Given the description of an element on the screen output the (x, y) to click on. 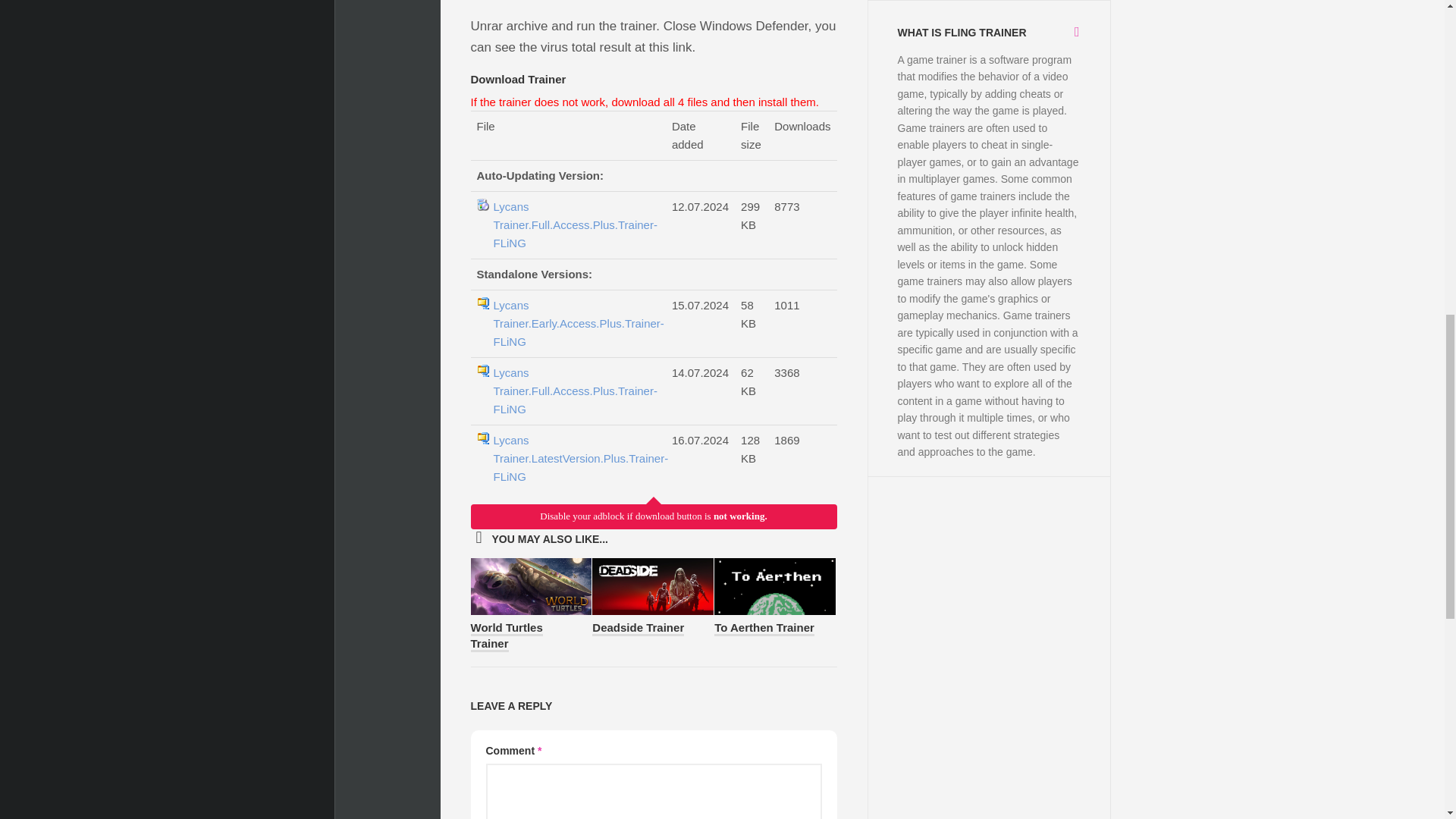
Lycans Trainer.LatestVersion.Plus.Trainer-FLiNG (575, 458)
Deadside Trainer (638, 628)
Lycans Trainer.Full.Access.Plus.Trainer-FLiNG (575, 225)
Lycans Trainer.Early.Access.Plus.Trainer-FLiNG (575, 323)
Lycans Trainer.Early.Access.Plus.12.Trainer-FLiNG (575, 323)
Lycans Trainer.Early.Access.Plus.12.Trainer-FLiNG (575, 225)
Lycans Trainer.Full.Access.Plus.Trainer-FLiNG (575, 390)
World Turtles Trainer (505, 635)
To Aerthen Trainer (763, 628)
Lycans Trainer.Full.Access.Plus.12.Trainer-FLiNG (575, 458)
